Given the description of an element on the screen output the (x, y) to click on. 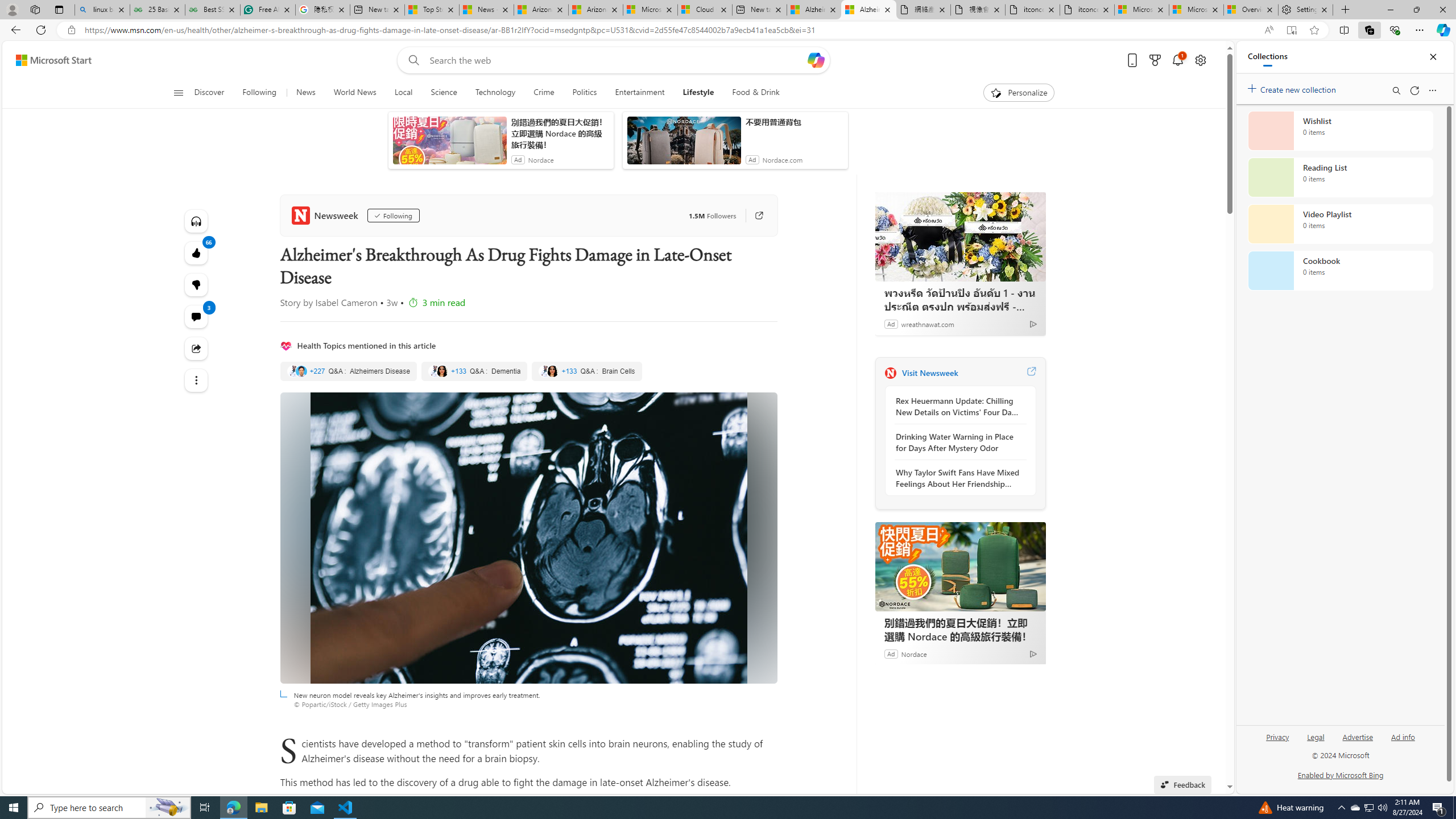
Newsweek (326, 215)
Dementia (473, 370)
Overview (1250, 9)
More options menu (1432, 90)
Best SSL Certificates Provider in India - GeeksforGeeks (212, 9)
Reading List collection, 0 items (1339, 177)
